Given the description of an element on the screen output the (x, y) to click on. 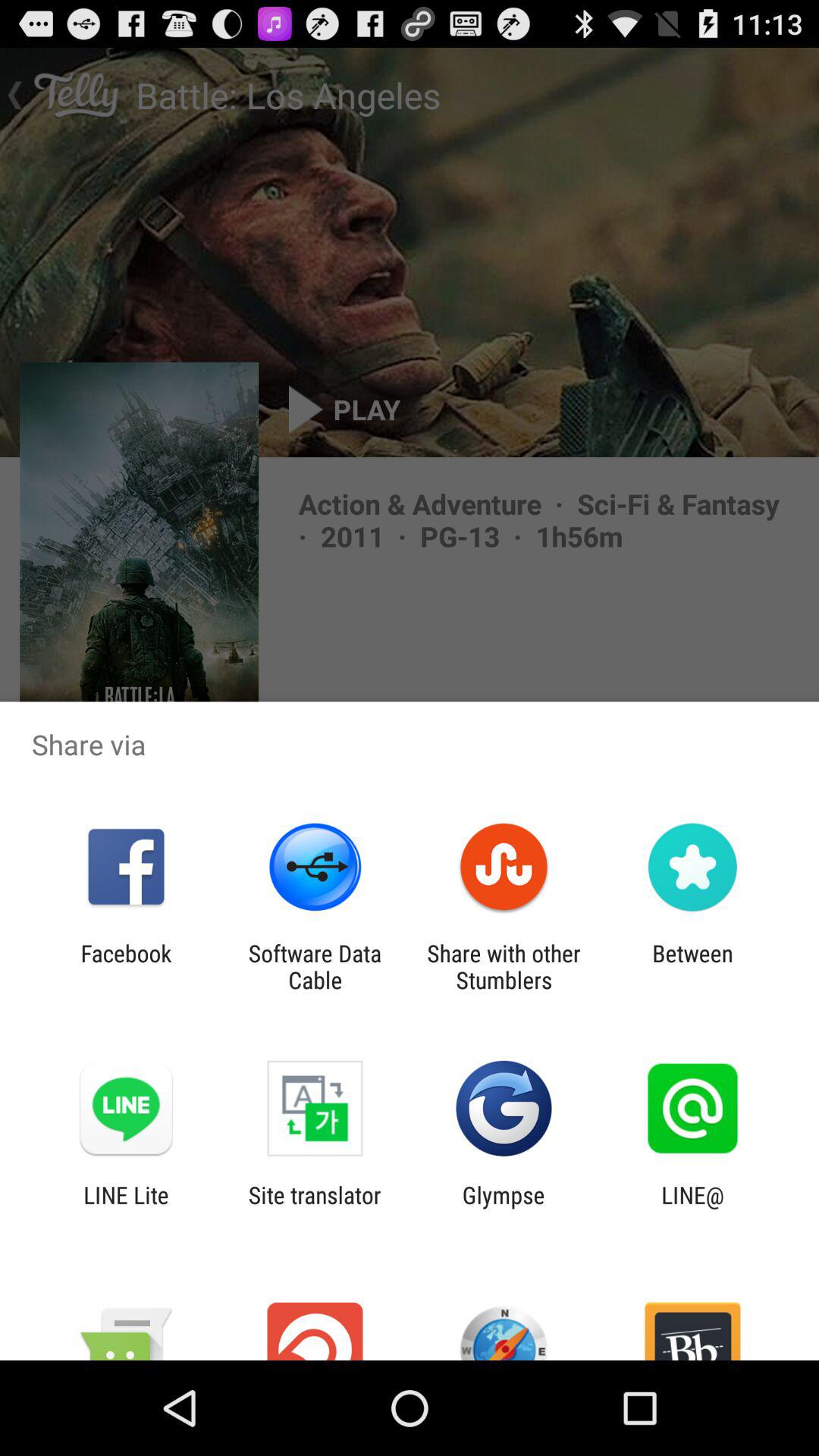
turn on item to the right of the site translator (503, 1208)
